Given the description of an element on the screen output the (x, y) to click on. 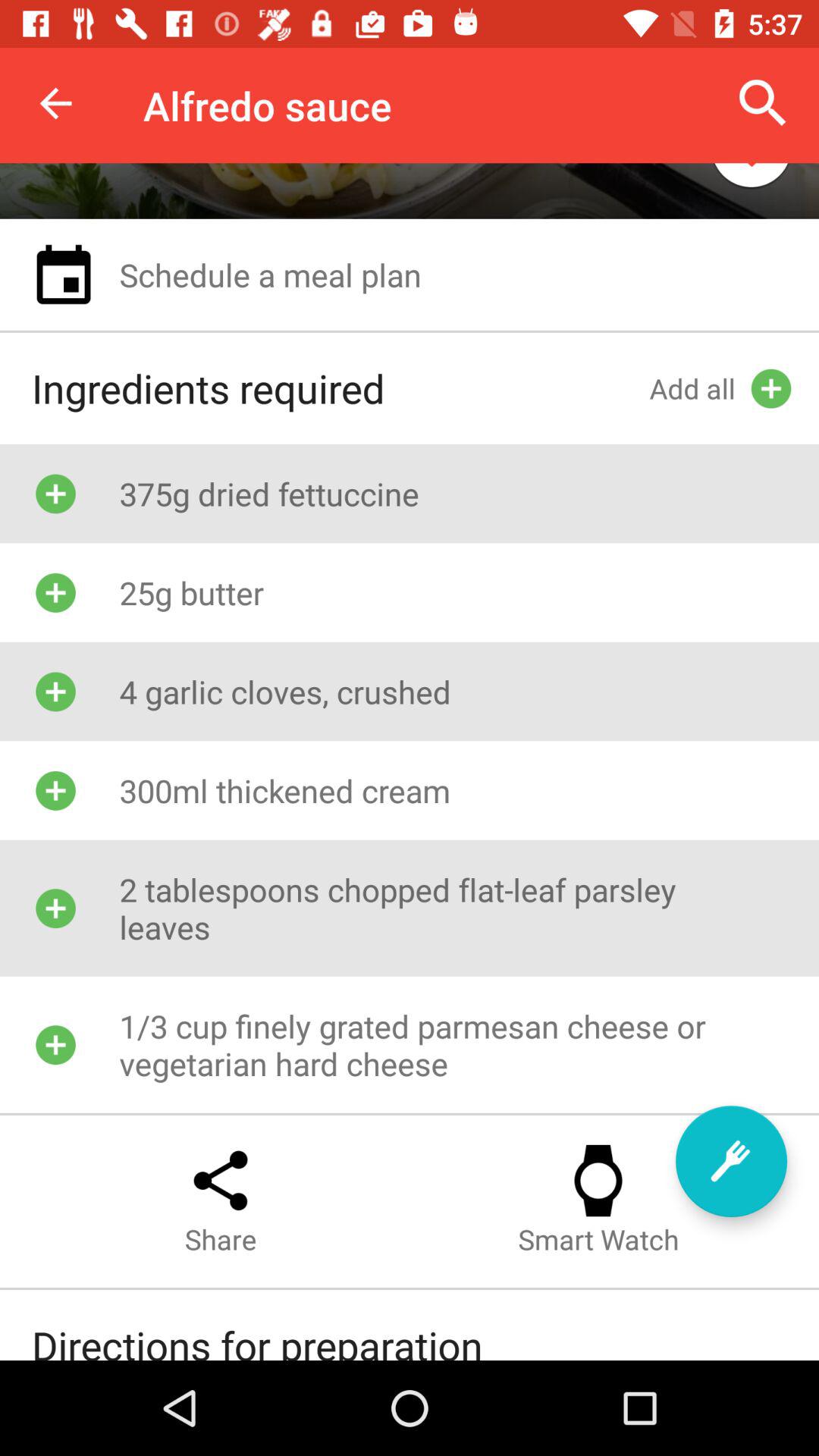
add to menu (731, 1161)
